Given the description of an element on the screen output the (x, y) to click on. 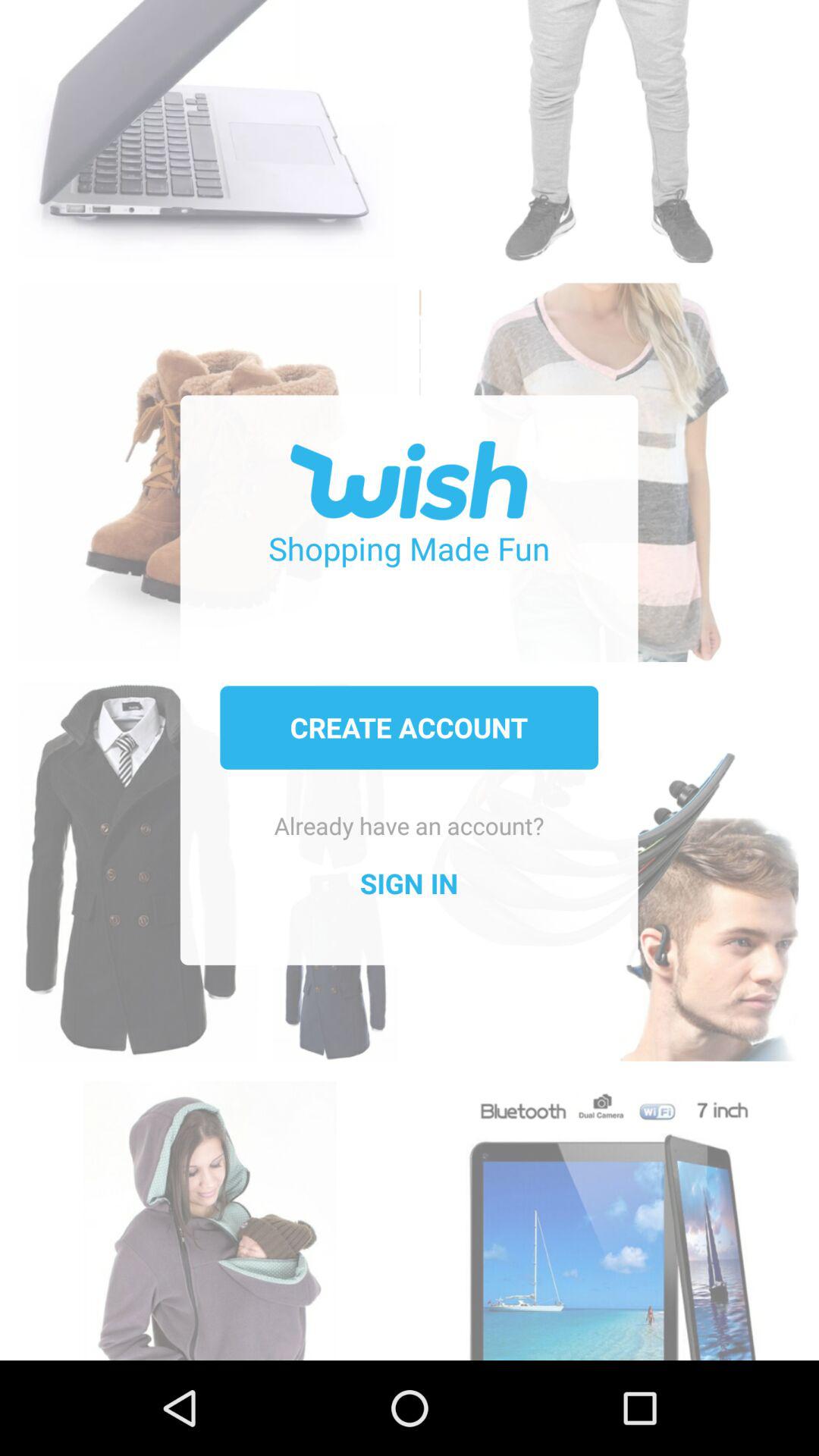
choose item to view (608, 1212)
